Given the description of an element on the screen output the (x, y) to click on. 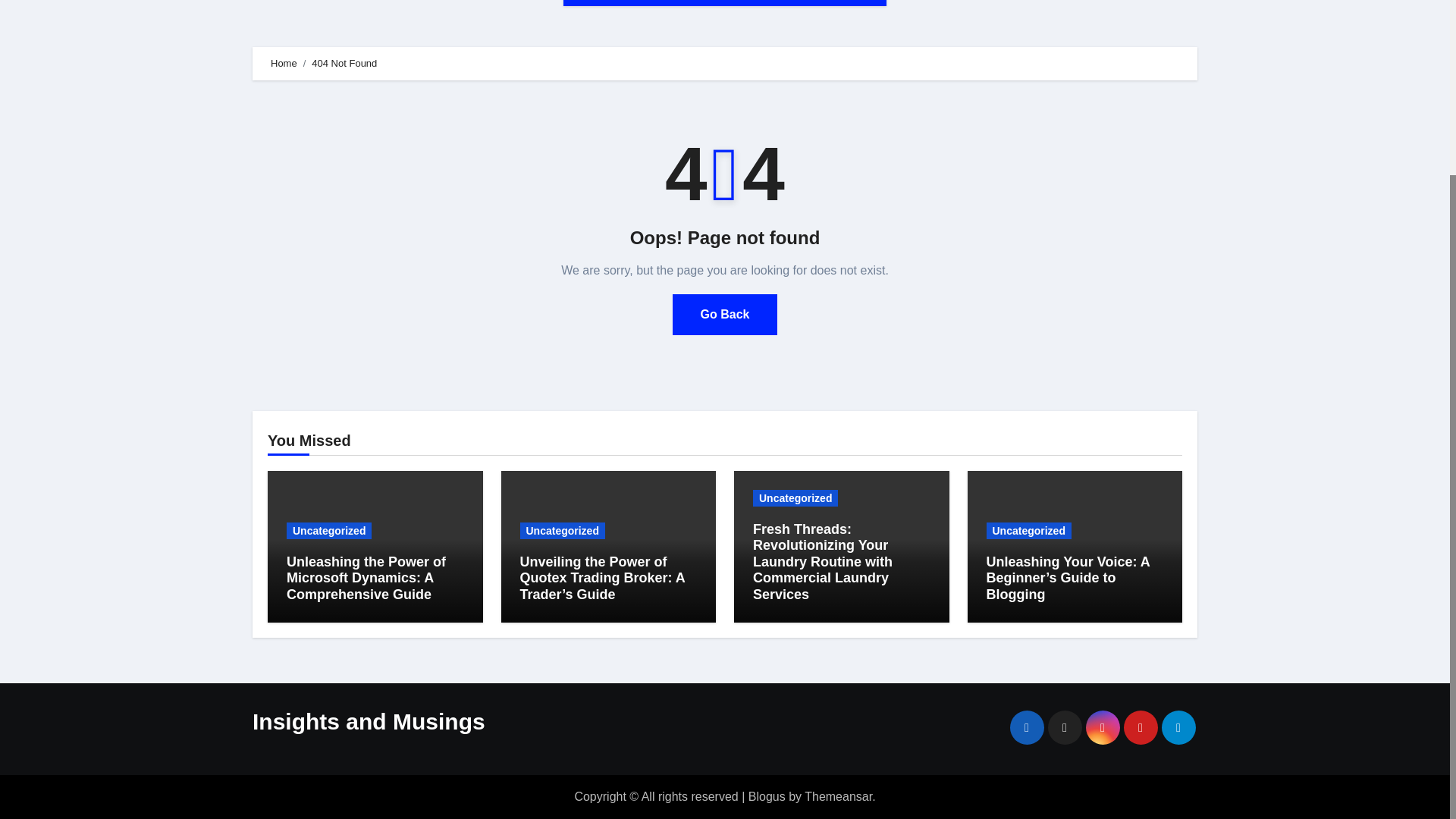
Home (591, 2)
Blogus (767, 796)
Home (283, 62)
Privacy Policy (834, 2)
Insights and Musings (367, 721)
Contact Us (739, 2)
Uncategorized (562, 530)
Home (591, 2)
Themeansar (838, 796)
Uncategorized (328, 530)
Uncategorized (1027, 530)
